Given the description of an element on the screen output the (x, y) to click on. 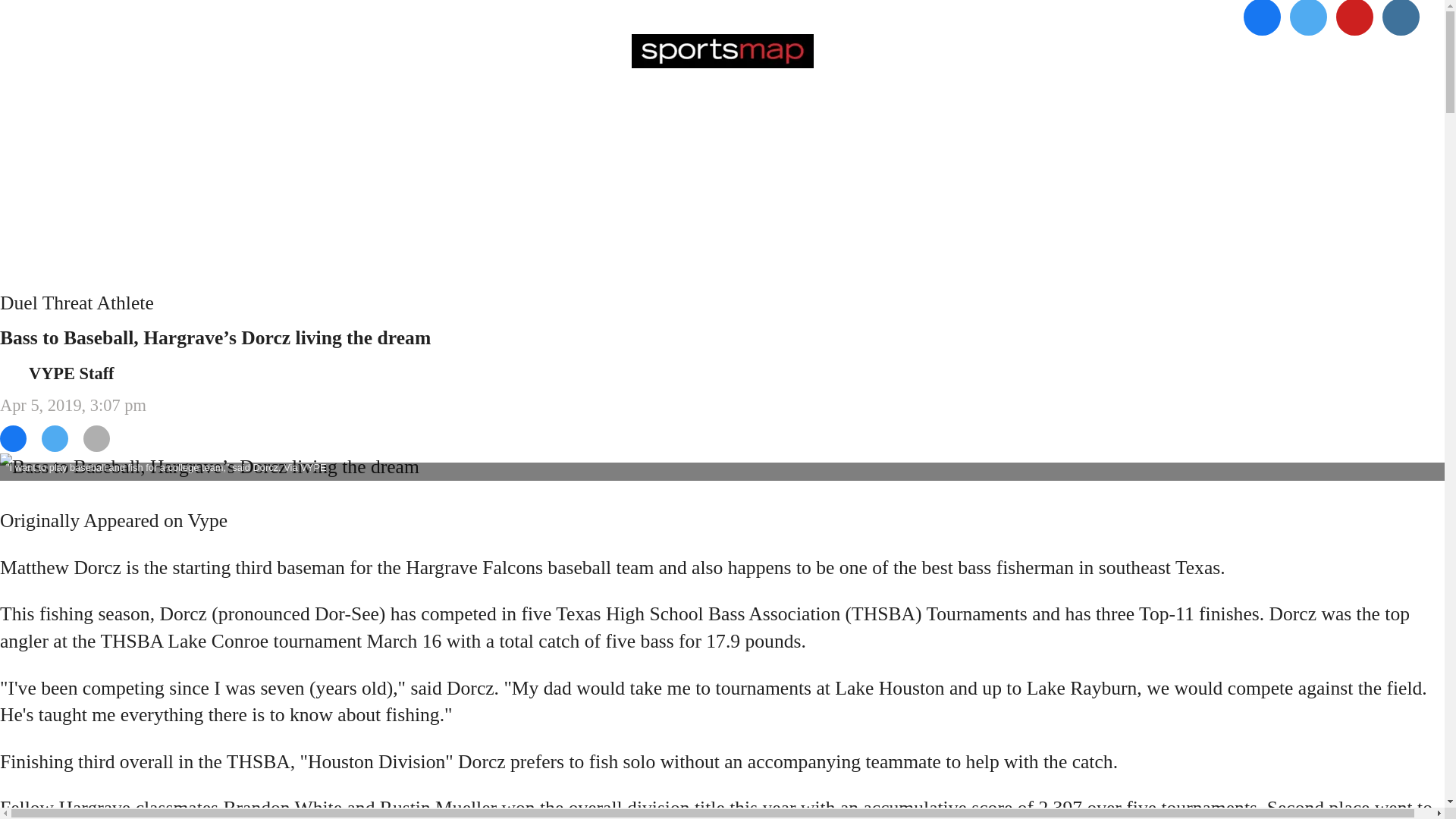
VYPE Staff (72, 373)
